Given the description of an element on the screen output the (x, y) to click on. 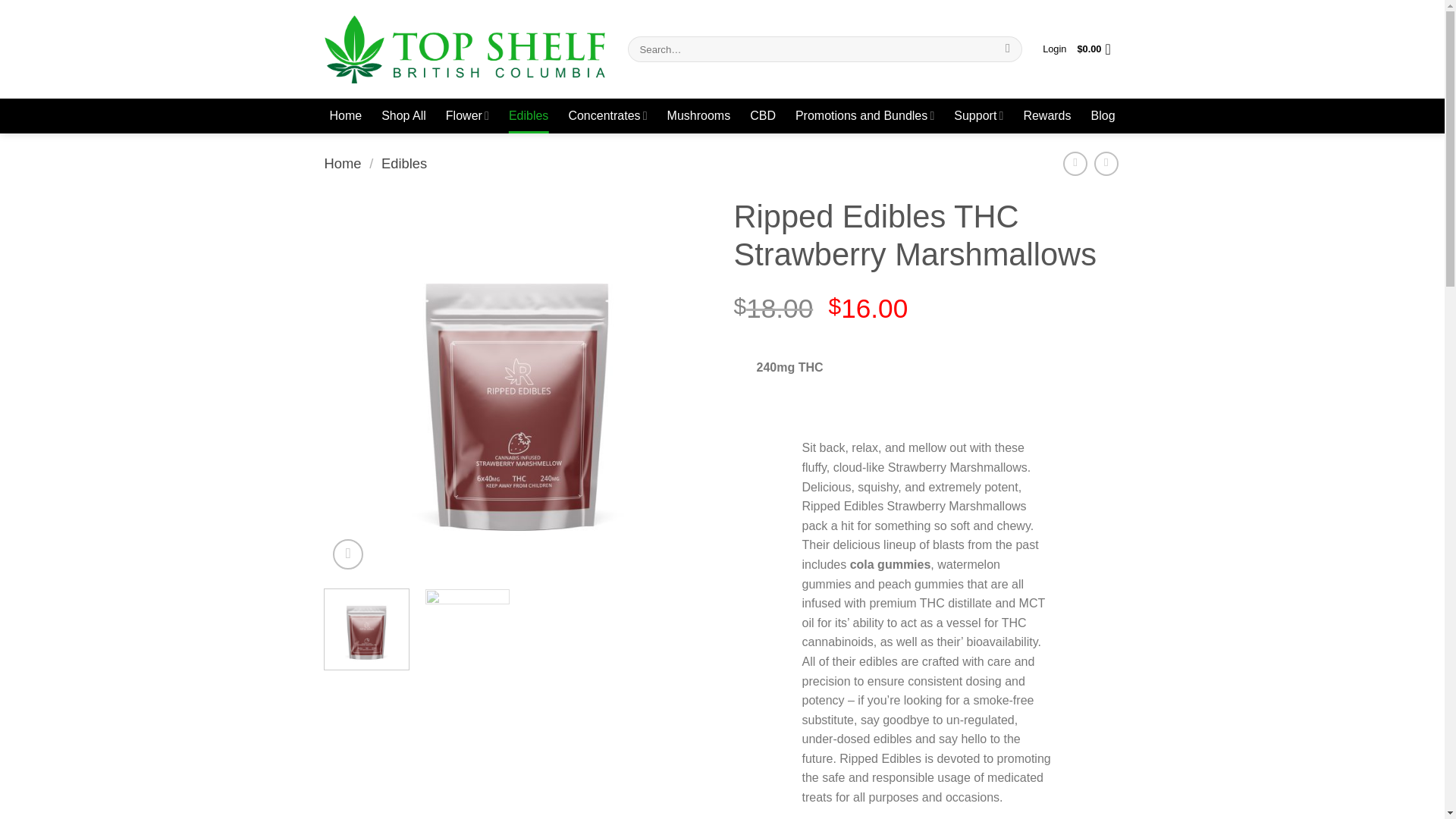
Mushrooms (698, 115)
Search (1007, 49)
Flower (467, 115)
Promotions and Bundles (864, 115)
Home (345, 115)
Zoom (347, 553)
Support (978, 115)
Shop All (403, 115)
Rewards (1046, 115)
Concentrates (606, 115)
Cart (1098, 48)
Edibles (528, 115)
